Given the description of an element on the screen output the (x, y) to click on. 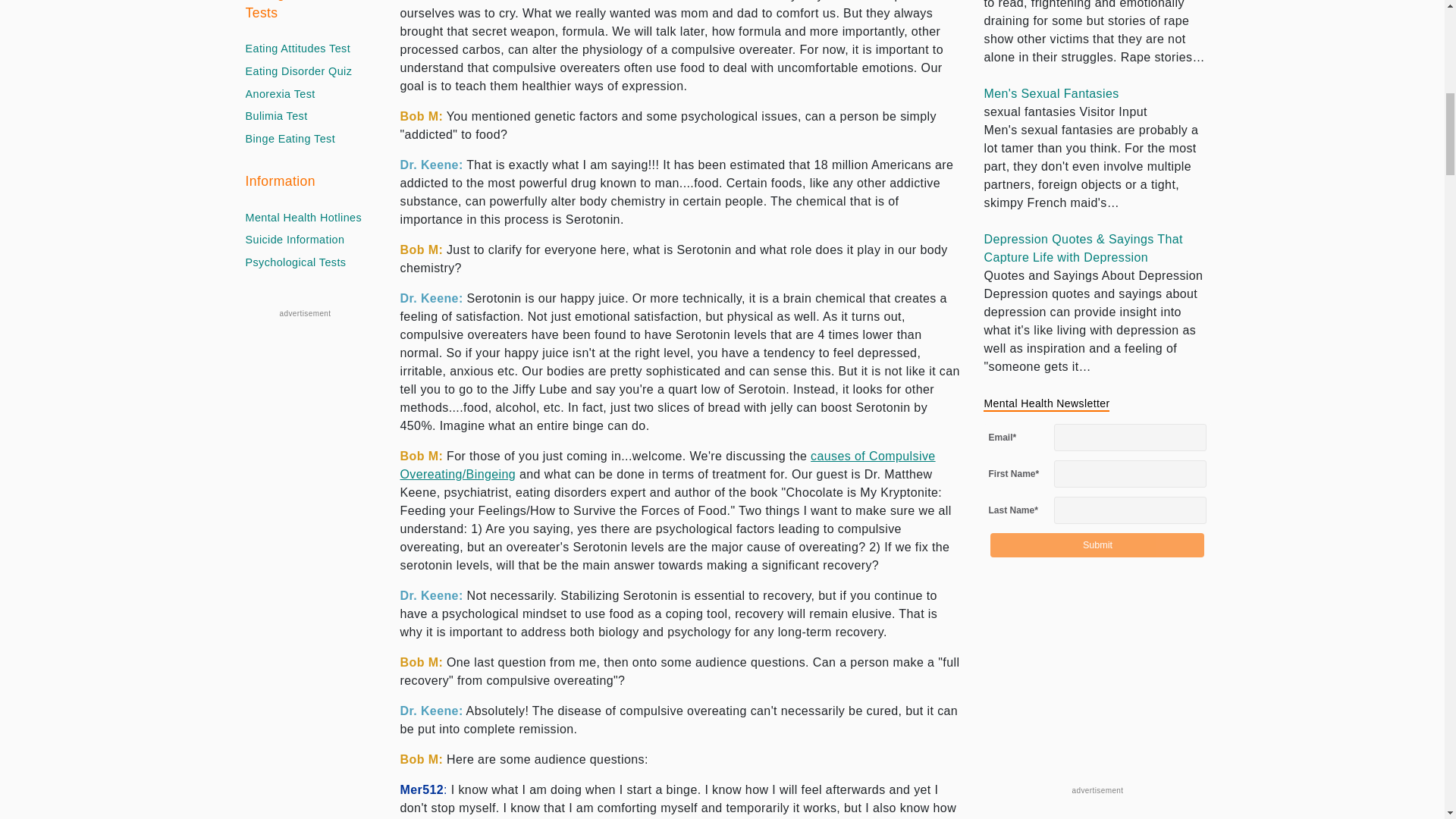
Overeating Causes (668, 464)
Take a Psychological Test (296, 262)
Submit (1097, 545)
Mental Health Hotline Numbers and Referral Resources (304, 217)
